Given the description of an element on the screen output the (x, y) to click on. 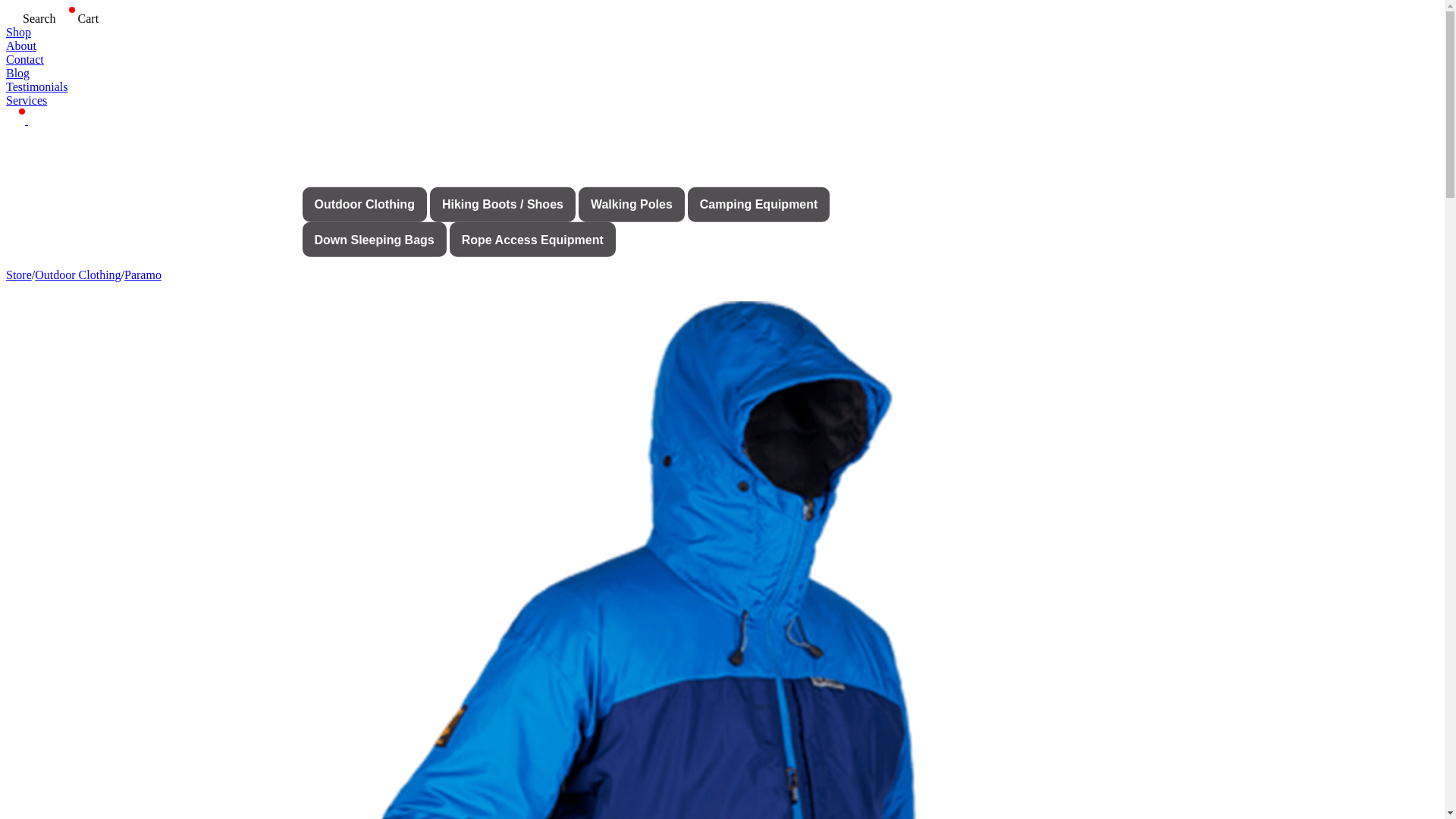
Store (18, 274)
Walking Poles (631, 203)
Outdoor Clothing (77, 274)
Search (30, 18)
Rope Access Equipment (532, 239)
Cart (77, 18)
Paramo (142, 274)
Camping Equipment (758, 203)
Outdoor Clothing (363, 203)
Down Sleeping Bags (373, 239)
